Given the description of an element on the screen output the (x, y) to click on. 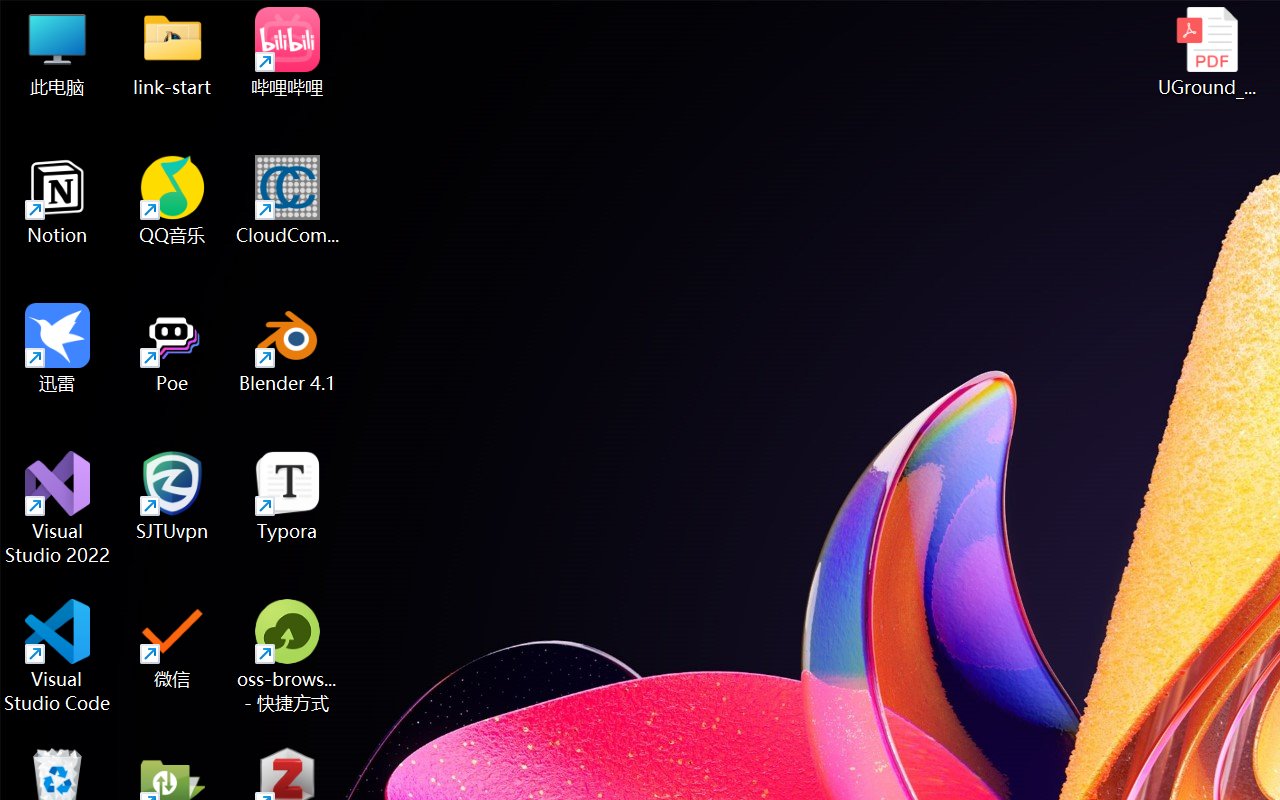
Typora (287, 496)
Visual Studio 2022 (57, 508)
UGround_paper.pdf (1206, 52)
Blender 4.1 (287, 348)
SJTUvpn (172, 496)
Visual Studio Code (57, 656)
CloudCompare (287, 200)
